Given the description of an element on the screen output the (x, y) to click on. 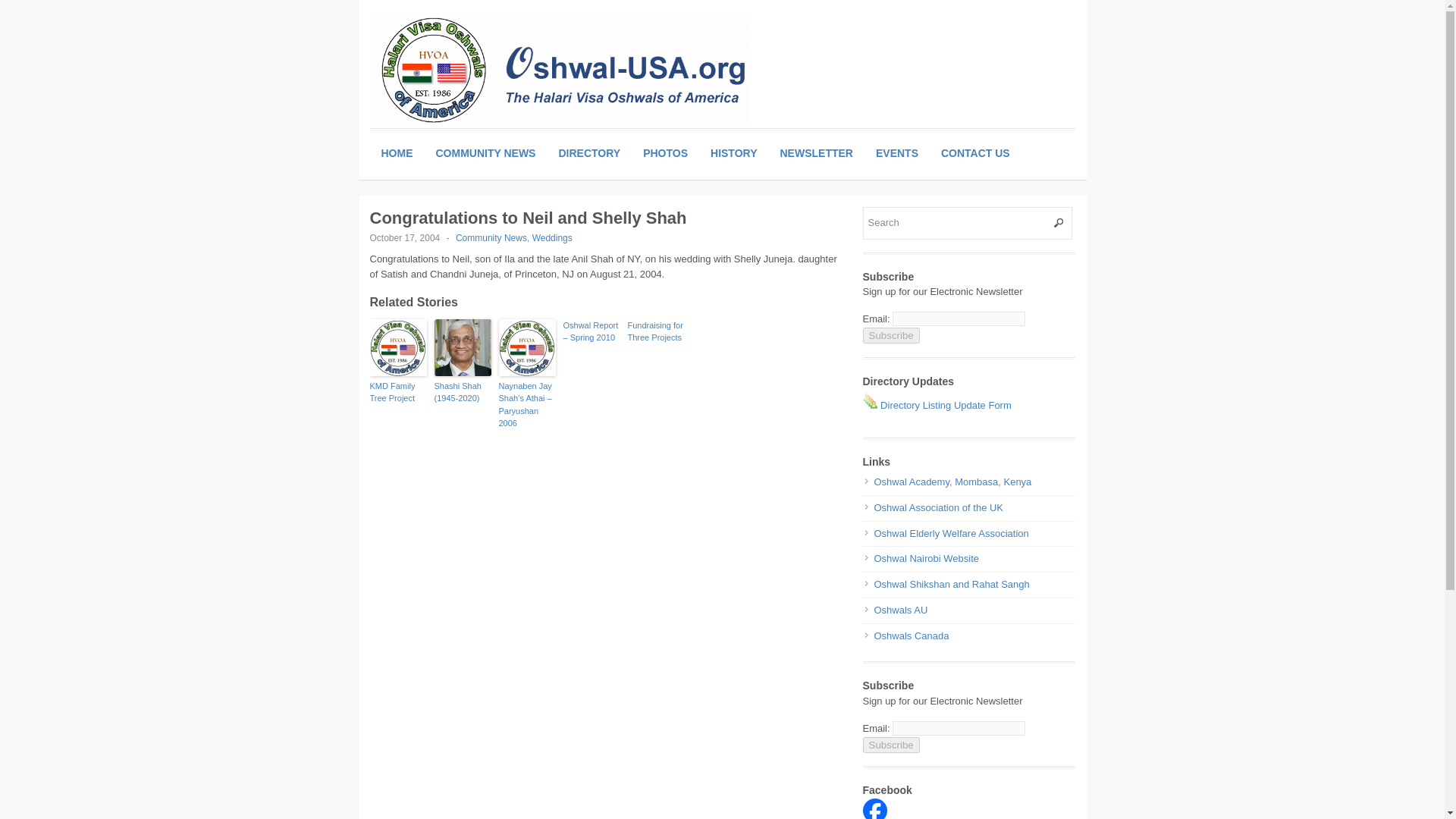
EVENTS (897, 153)
Oshwal Shikshan and Rahat Sangh (951, 583)
Oshwals AU (900, 609)
Oshwal-USA.org (559, 68)
Oshwals Australia (900, 609)
Halari Visa Oshwals of America (874, 816)
Subscribe (891, 744)
Oshwal Elderly Welfare Association (950, 532)
CONTACT US (976, 153)
Subscribe (891, 335)
Oshwal Nairobi Website (925, 558)
COMMUNITY NEWS (486, 153)
Directory Listing Update Form (937, 405)
Community News (491, 237)
PHOTOS (664, 153)
